Given the description of an element on the screen output the (x, y) to click on. 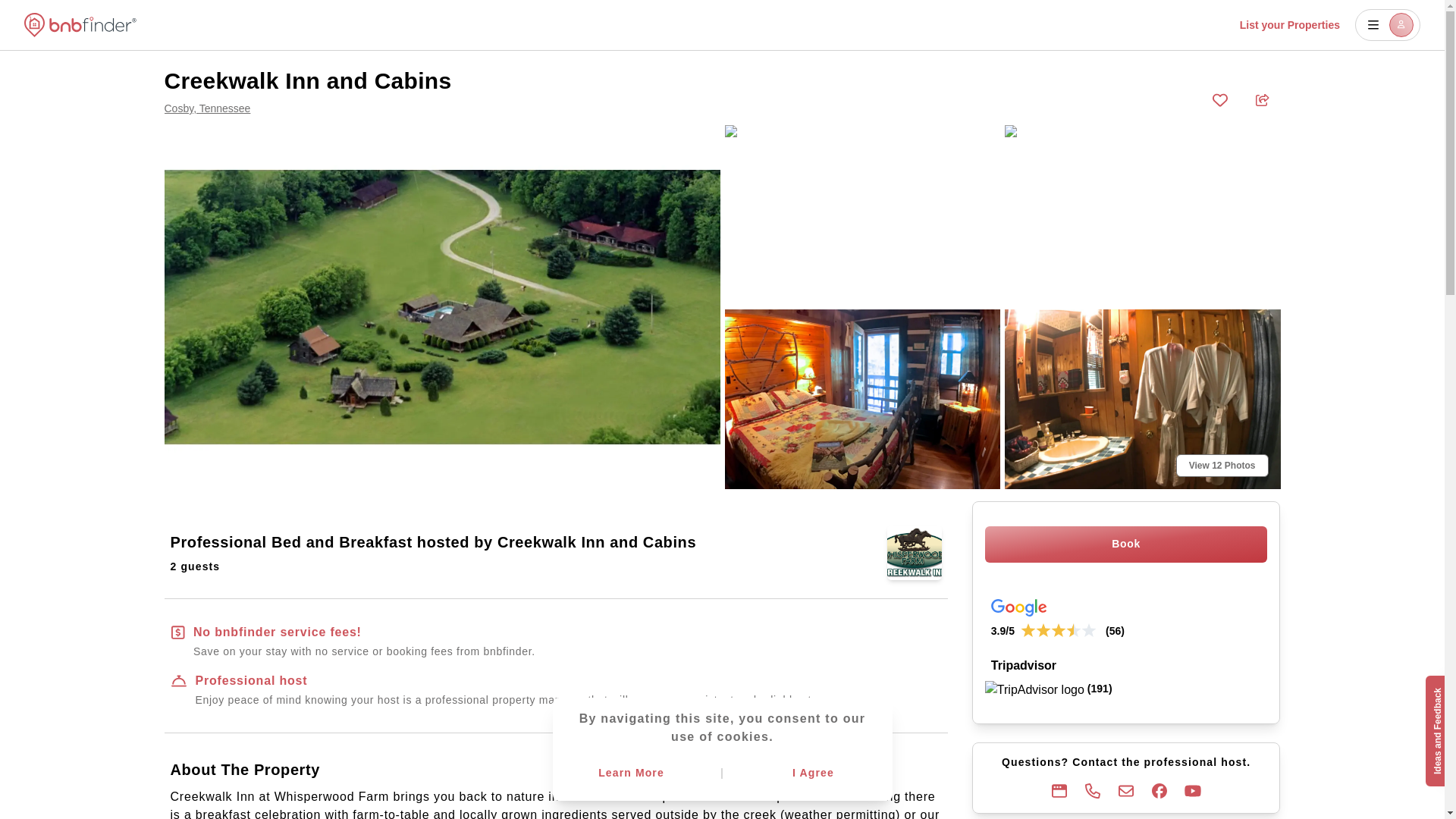
View 12 Photos (1222, 465)
Open user menu (1388, 24)
List your Properties (1289, 24)
